Given the description of an element on the screen output the (x, y) to click on. 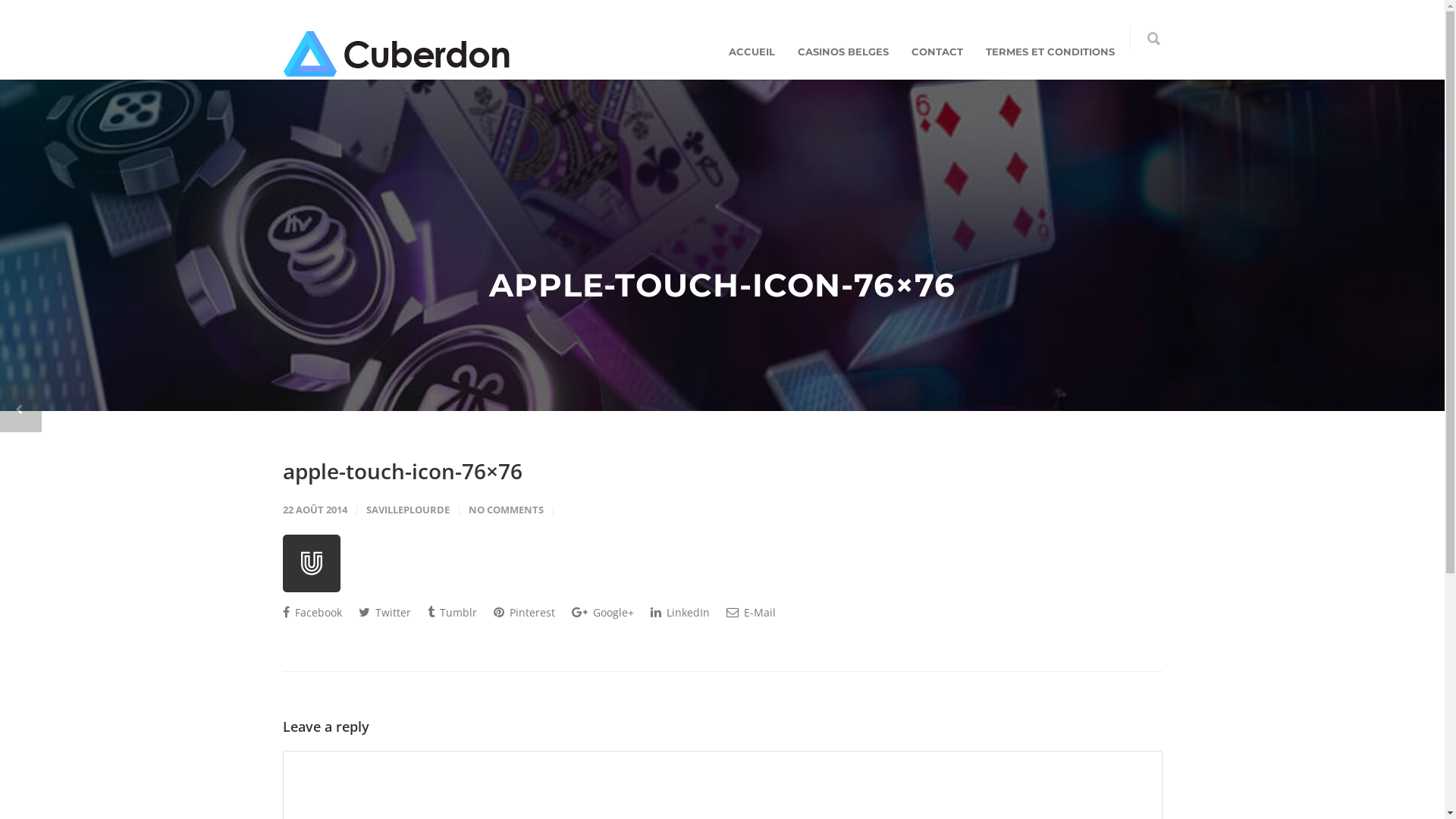
CASINOS BELGES Element type: text (842, 51)
Google+ Element type: text (602, 611)
Facebook Element type: text (311, 611)
SAVILLEPLOURDE Element type: text (406, 509)
CONTACT Element type: text (936, 51)
LinkedIn Element type: text (679, 611)
Twitter Element type: text (383, 611)
NO COMMENTS Element type: text (505, 509)
TERMES ET CONDITIONS Element type: text (1049, 51)
E-Mail Element type: text (750, 611)
Pinterest Element type: text (523, 611)
Tumblr Element type: text (451, 611)
ACCUEIL Element type: text (751, 51)
